Given the description of an element on the screen output the (x, y) to click on. 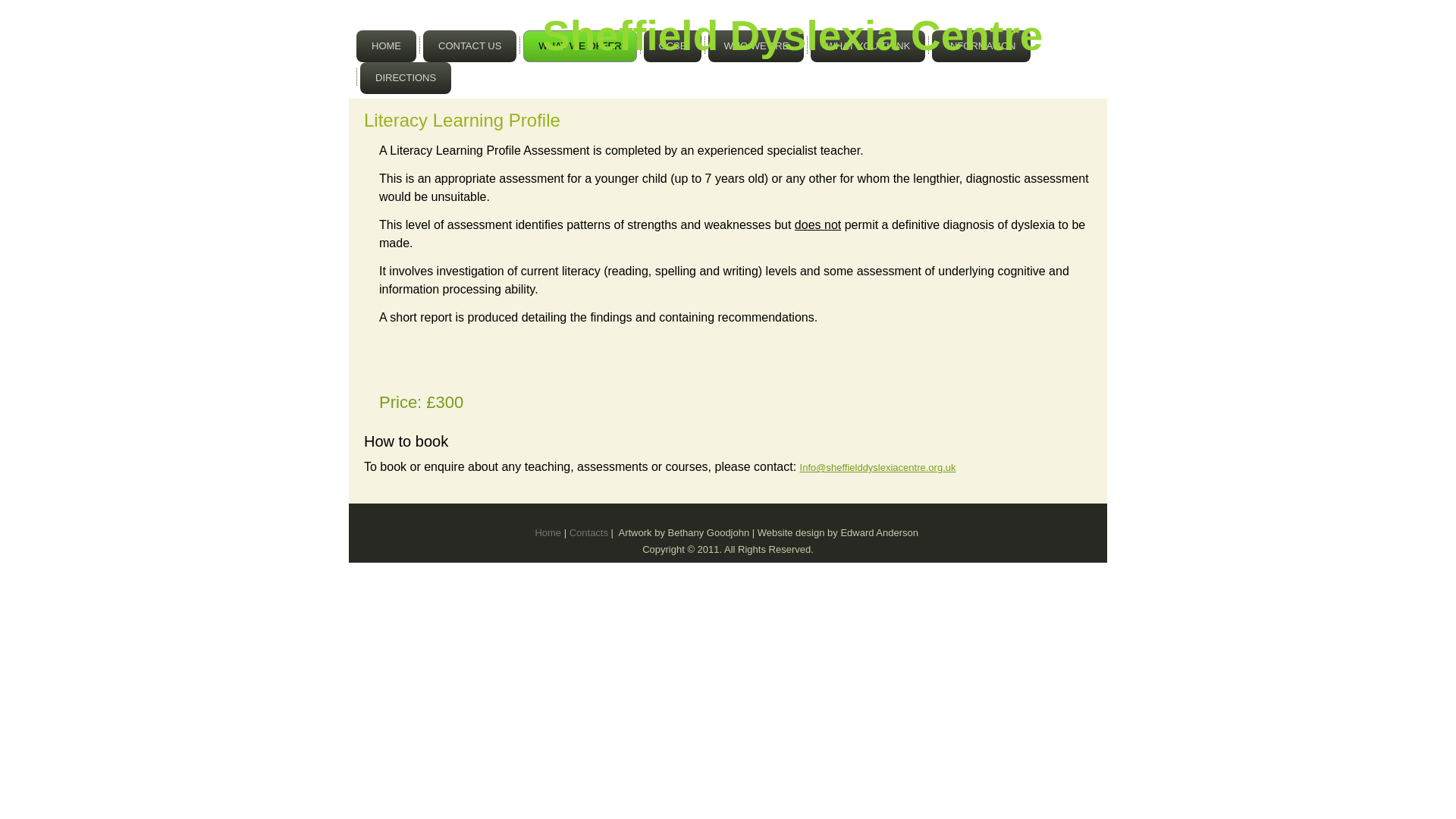
WHAT YOU THINK (867, 46)
INFORMATION (980, 46)
DIRECTIONS (405, 78)
WHO WE ARE (755, 46)
GCSE (672, 46)
CONTACT US (469, 46)
HOME (386, 46)
WHAT WE OFFER (579, 46)
Sheffield Dyslexia Centre (791, 35)
